Given the description of an element on the screen output the (x, y) to click on. 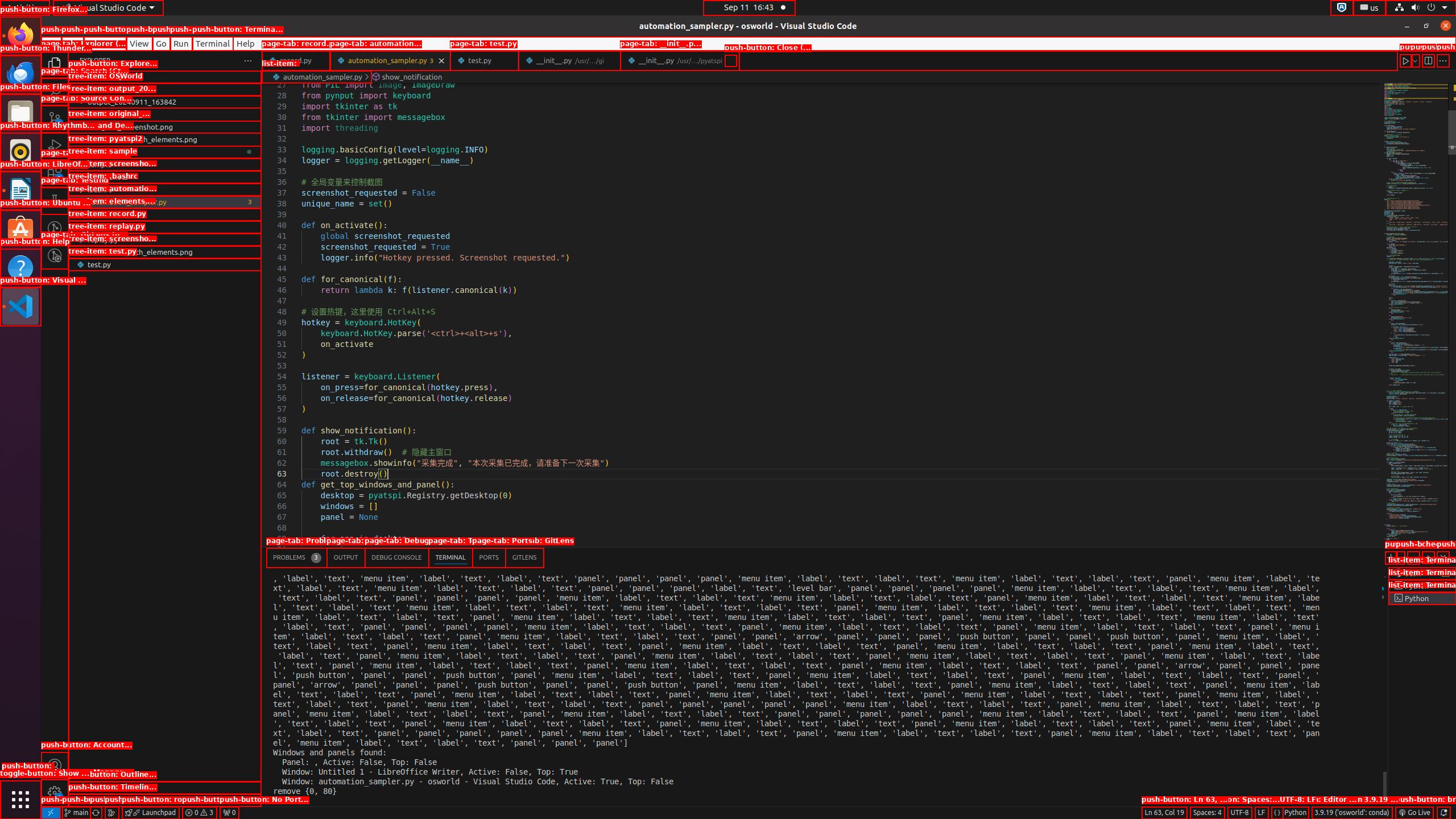
automation_sampler.py Element type: tree-item (164, 201)
